Given the description of an element on the screen output the (x, y) to click on. 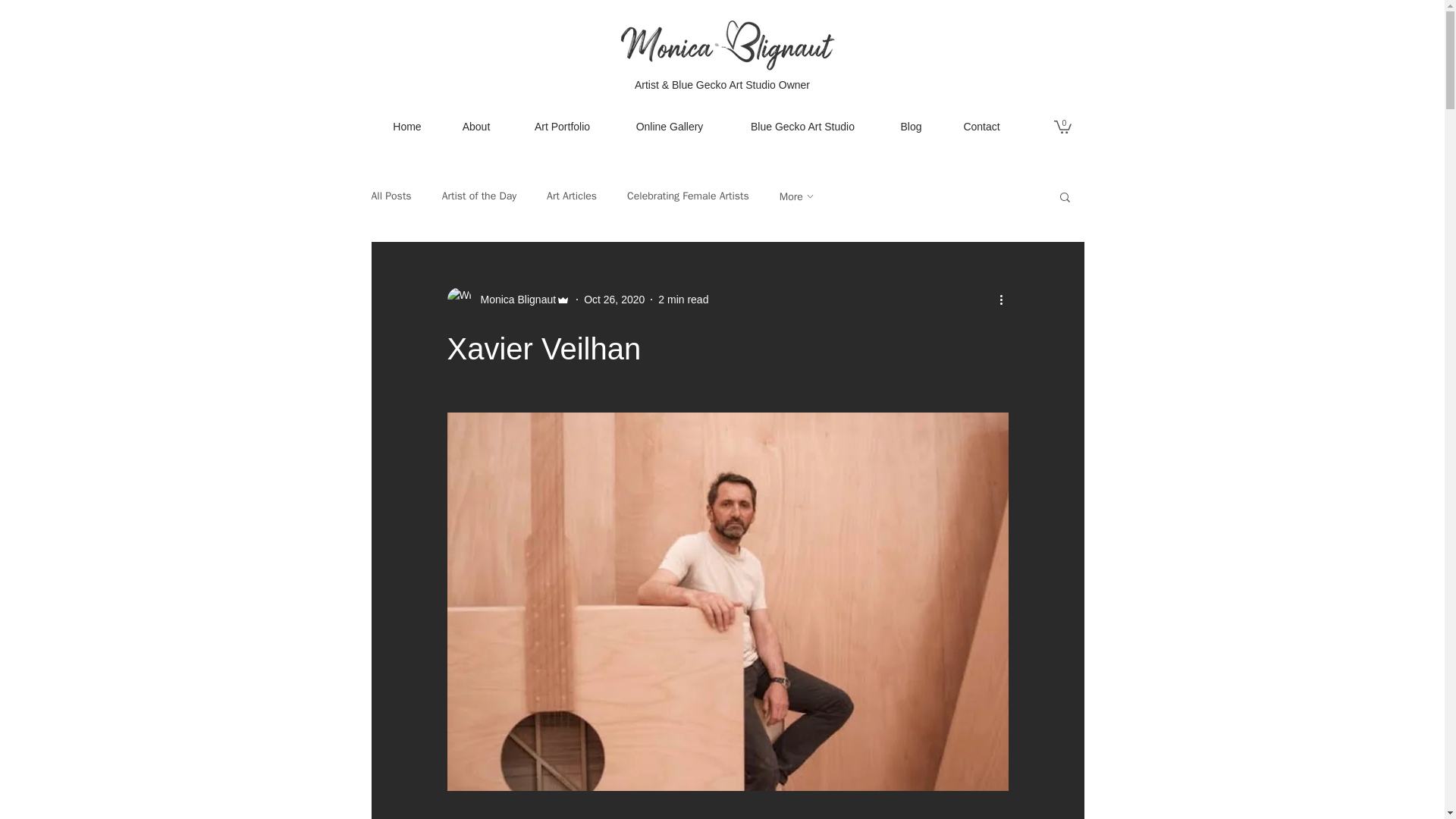
Home (407, 126)
About (476, 126)
Art Articles (571, 196)
2 min read (682, 299)
Art Portfolio (562, 126)
Monica Blignaut (513, 299)
Contact (981, 126)
0 (1062, 125)
0 (1062, 125)
Blue Gecko Art Studio (802, 126)
Celebrating Female Artists (688, 196)
Artist of the Day (479, 196)
Monica Blignaut (508, 299)
Online Gallery (669, 126)
Blog (910, 126)
